Given the description of an element on the screen output the (x, y) to click on. 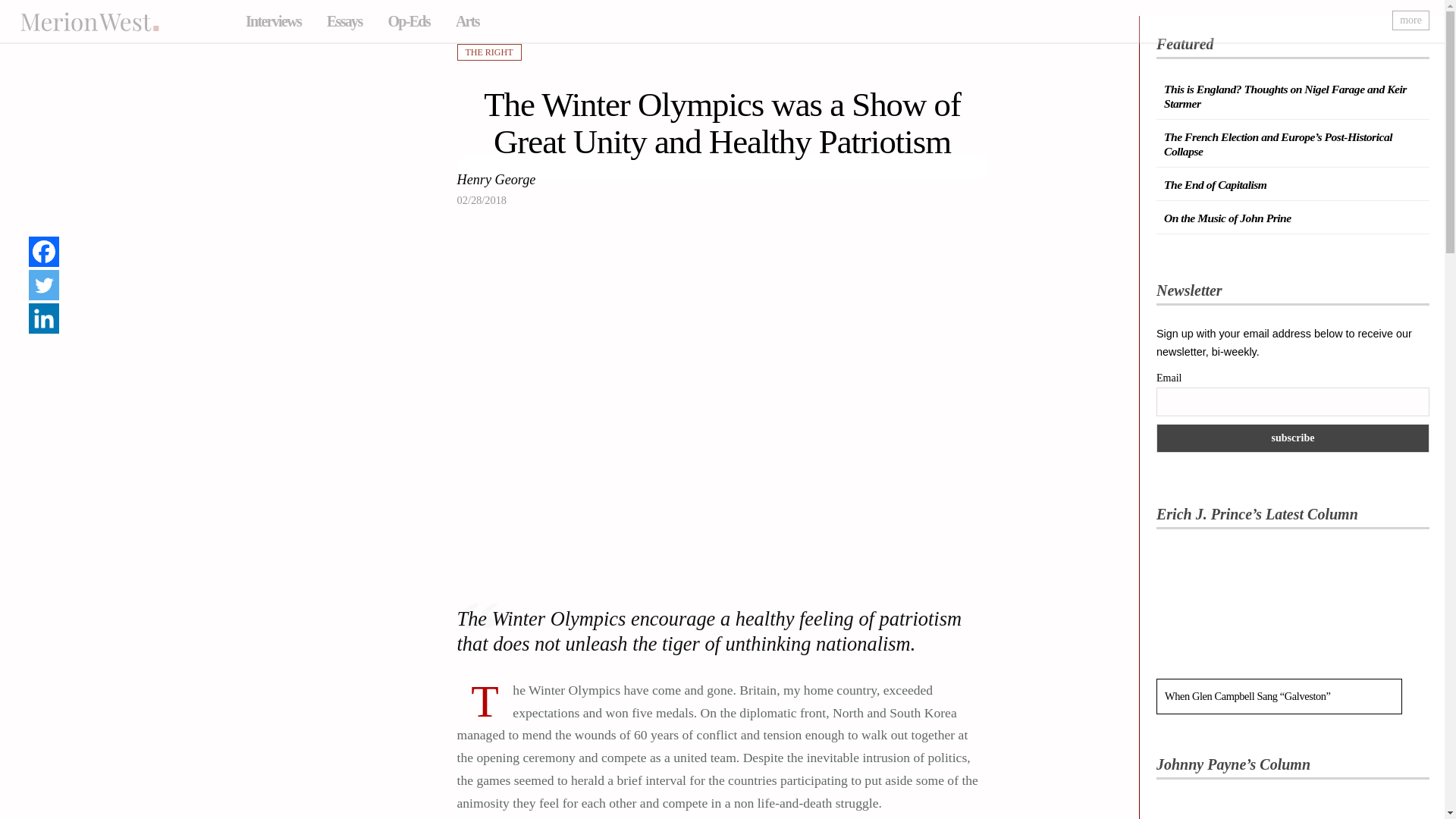
All posts by Henry George (496, 179)
This is England? Thoughts on Nigel Farage and Keir Starmer (1284, 95)
Interviews (273, 21)
Subscribe (1292, 438)
Op-Eds (408, 21)
Henry George (496, 179)
The End of Capitalism (1214, 184)
Arts (467, 21)
Subscribe (1292, 438)
Facebook (44, 251)
